Given the description of an element on the screen output the (x, y) to click on. 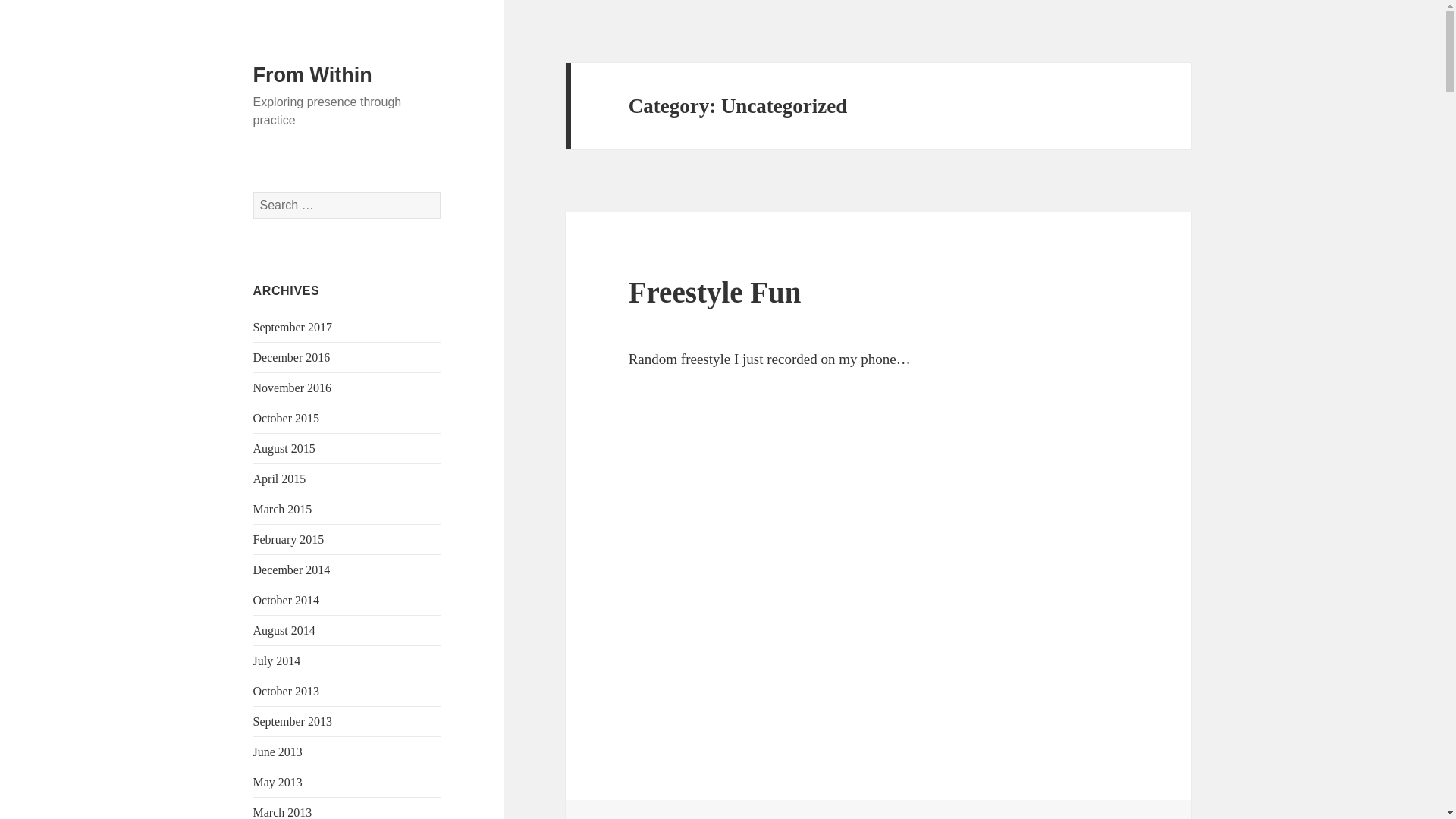
February 2015 (288, 539)
March 2013 (283, 812)
September 2017 (292, 327)
November 2016 (292, 387)
August 2014 (284, 630)
October 2013 (286, 690)
August 2015 (284, 448)
December 2014 (291, 569)
December 2016 (291, 357)
May 2013 (277, 781)
October 2014 (286, 599)
March 2015 (283, 508)
April 2015 (279, 478)
